Given the description of an element on the screen output the (x, y) to click on. 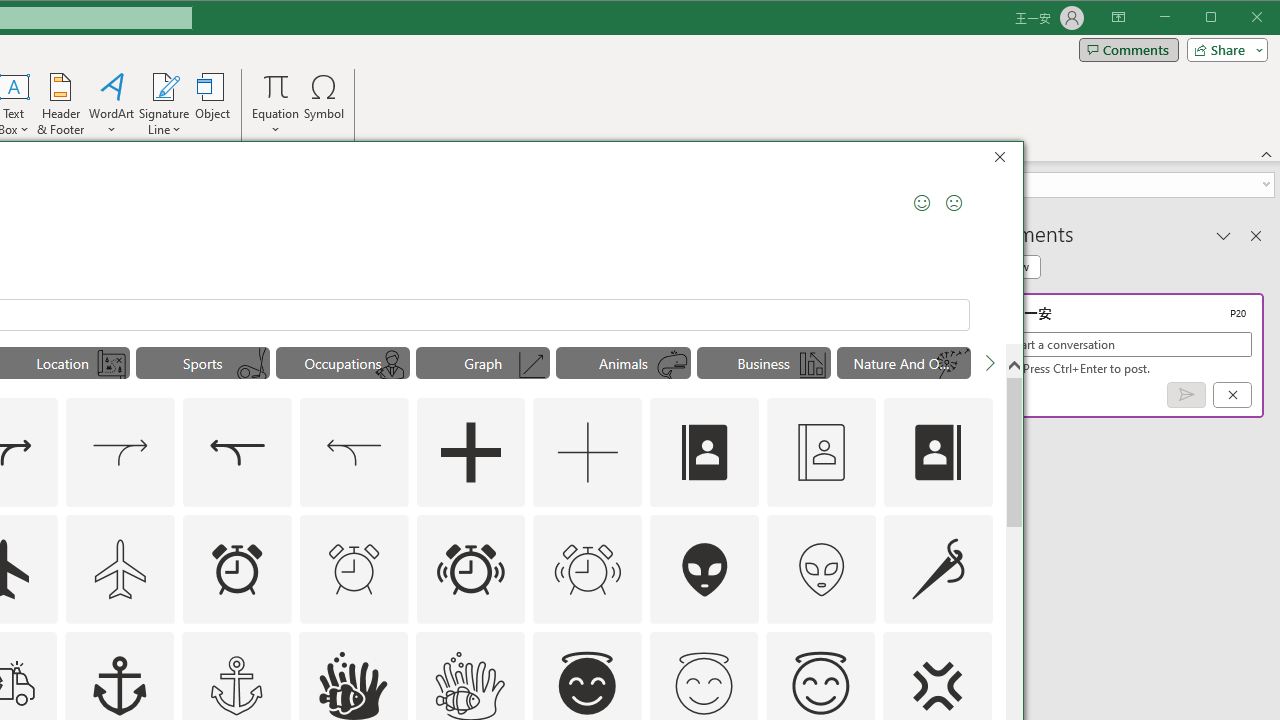
Next Search Suggestion (990, 362)
WordArt (111, 104)
Equation (275, 104)
AutomationID: Icons_JudgeMale_M (391, 365)
AutomationID: _134_Angel_Face_A (587, 683)
